Given the description of an element on the screen output the (x, y) to click on. 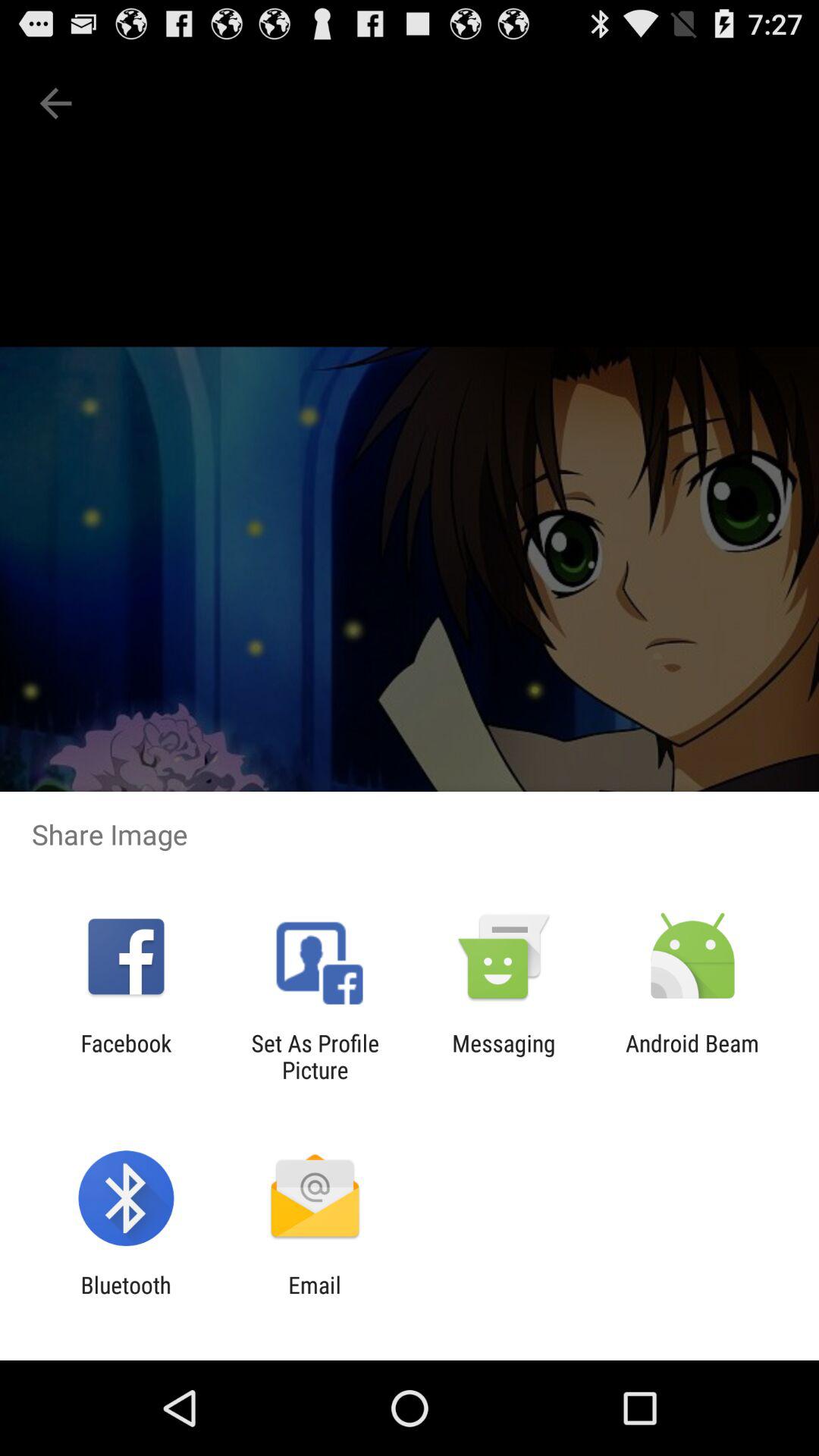
launch app to the right of the set as profile icon (503, 1056)
